Given the description of an element on the screen output the (x, y) to click on. 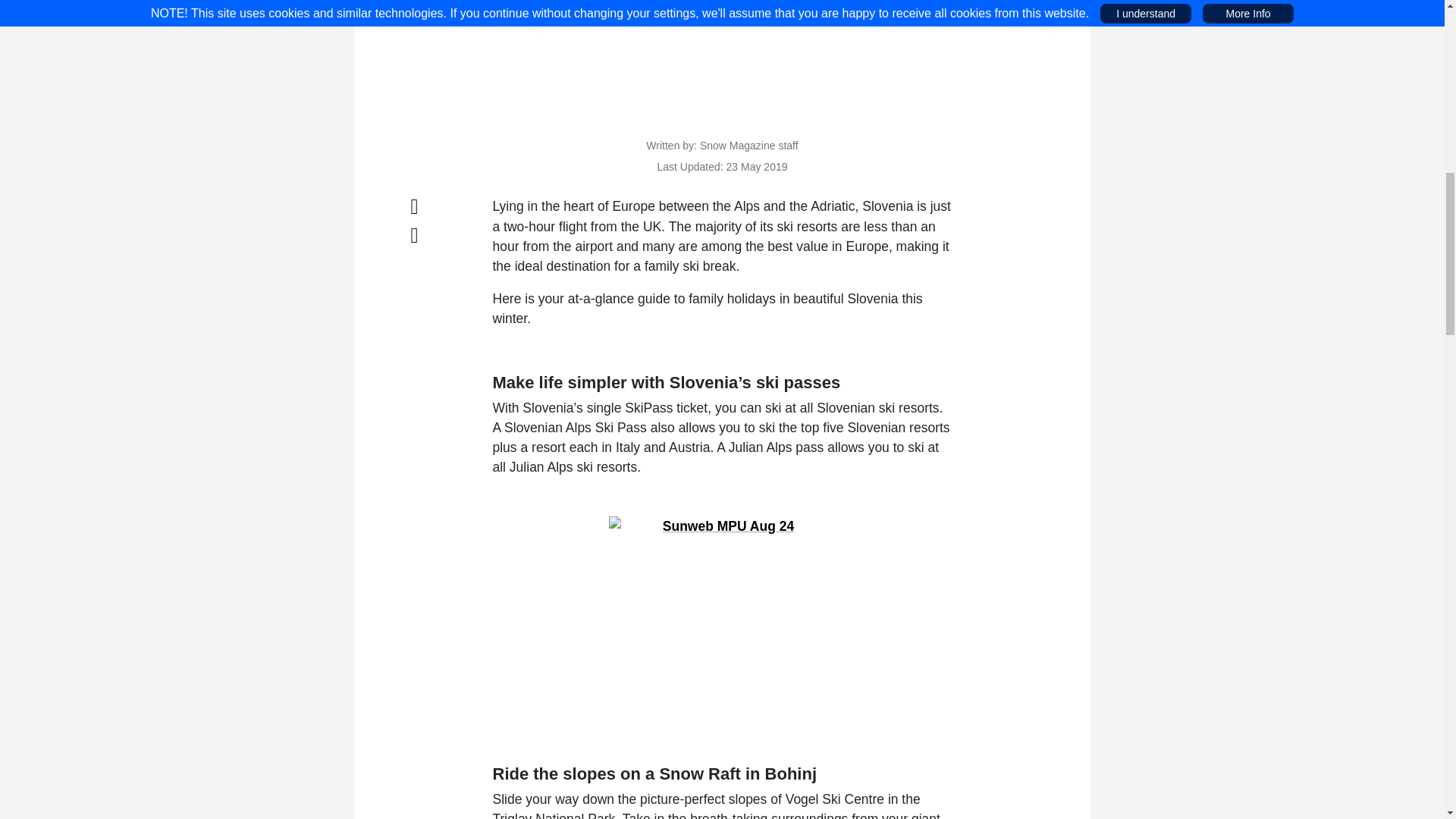
Sunweb MPU Aug 24 (722, 610)
